Given the description of an element on the screen output the (x, y) to click on. 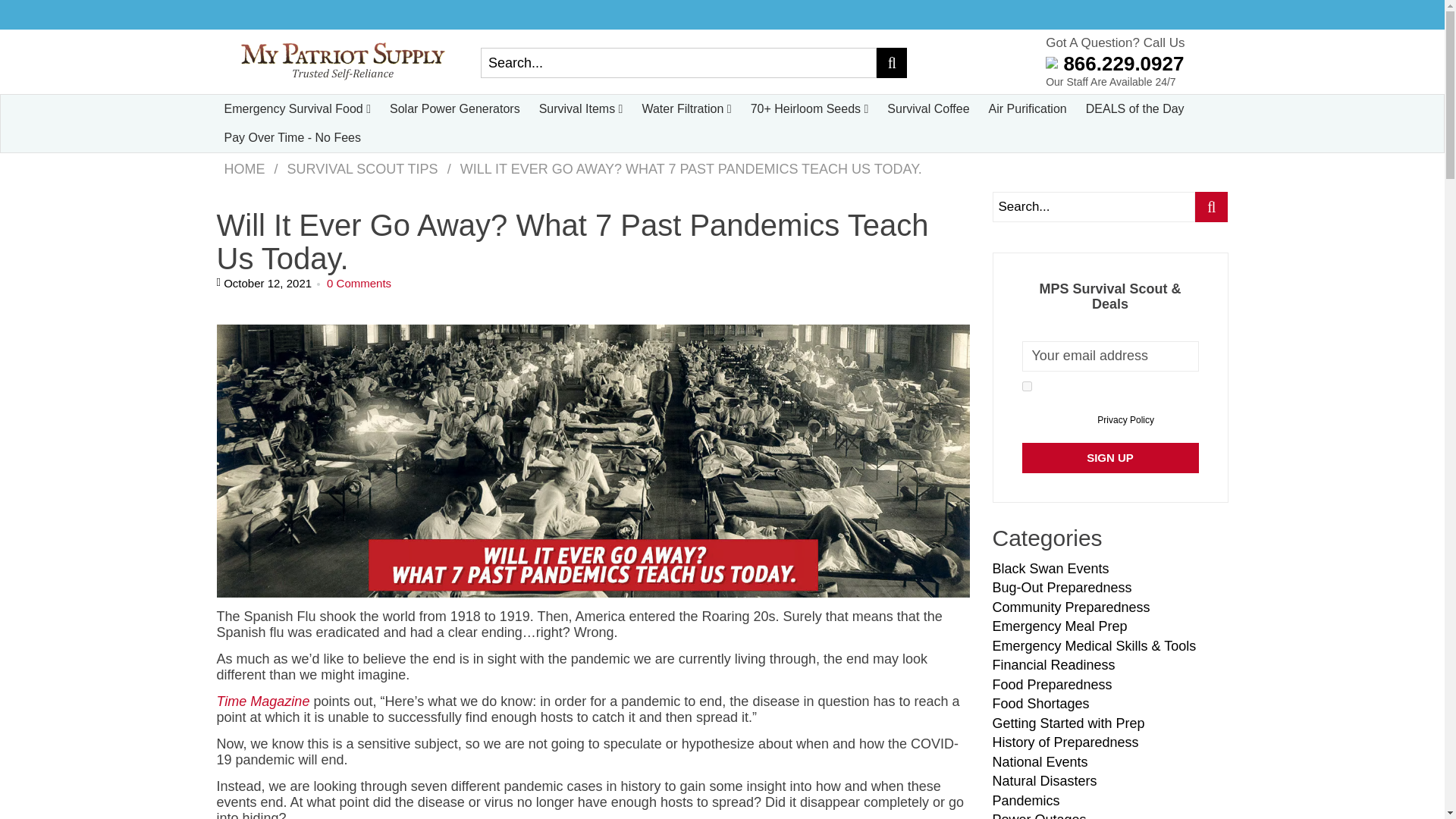
Sign Up (1110, 458)
Show articles tagged Emergency Meal Prep (1058, 626)
Show articles tagged Natural Disasters (1043, 780)
Back to the home page (244, 168)
on (1027, 386)
Show articles tagged Bug-Out Preparedness (1061, 587)
Show articles tagged Food Shortages (1040, 703)
Show articles tagged Financial Readiness (1053, 664)
Show articles tagged Black Swan Events (1049, 568)
Show articles tagged Community Preparedness (1070, 607)
866.229.0927 (1114, 63)
Show articles tagged Food Preparedness (1051, 684)
Emergency Survival Food (297, 109)
Solar Power Generators (454, 109)
Survival Items (580, 109)
